Given the description of an element on the screen output the (x, y) to click on. 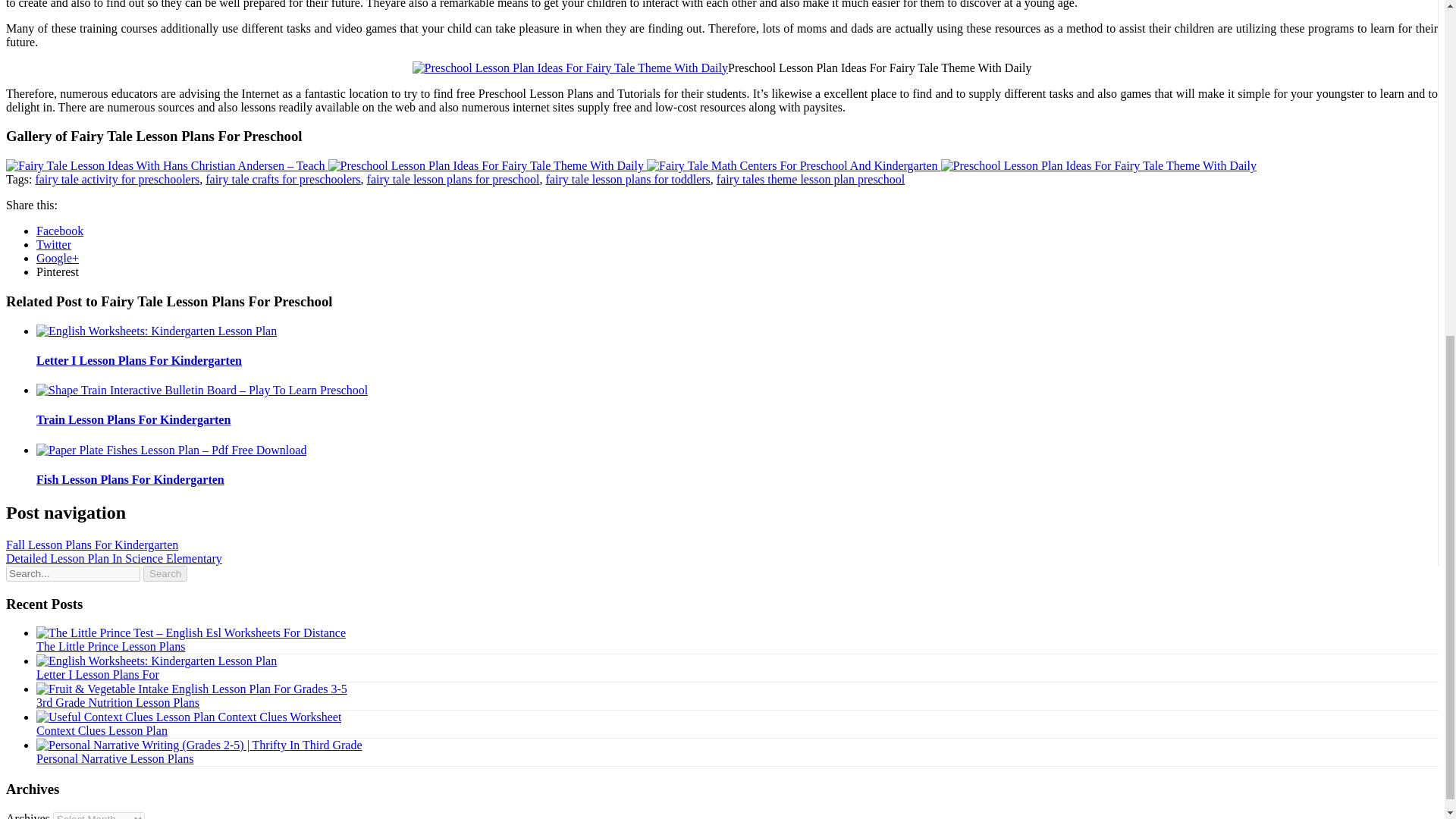
fairy tale activity for preschoolers (116, 178)
Fairy Tale Math Centers For Preschool And Kindergarten (793, 164)
fairy tales theme lesson plan preschool (810, 178)
Train Lesson Plans For Kindergarten (133, 419)
fairy tale lesson plans for preschool (453, 178)
Facebook (59, 230)
Search (164, 573)
Preschool Lesson Plan Ideas For Fairy Tale Theme With Daily (1098, 165)
fairy tale crafts for preschoolers (282, 178)
Train Lesson Plans For Kindergarten (133, 419)
Preschool Lesson Plan Ideas For Fairy Tale Theme With Daily (1098, 164)
Preschool Lesson Plan Ideas For Fairy Tale Theme With Daily (487, 164)
Fairy Tale Math Centers For Preschool And Kindergarten (791, 165)
Search (164, 573)
